Given the description of an element on the screen output the (x, y) to click on. 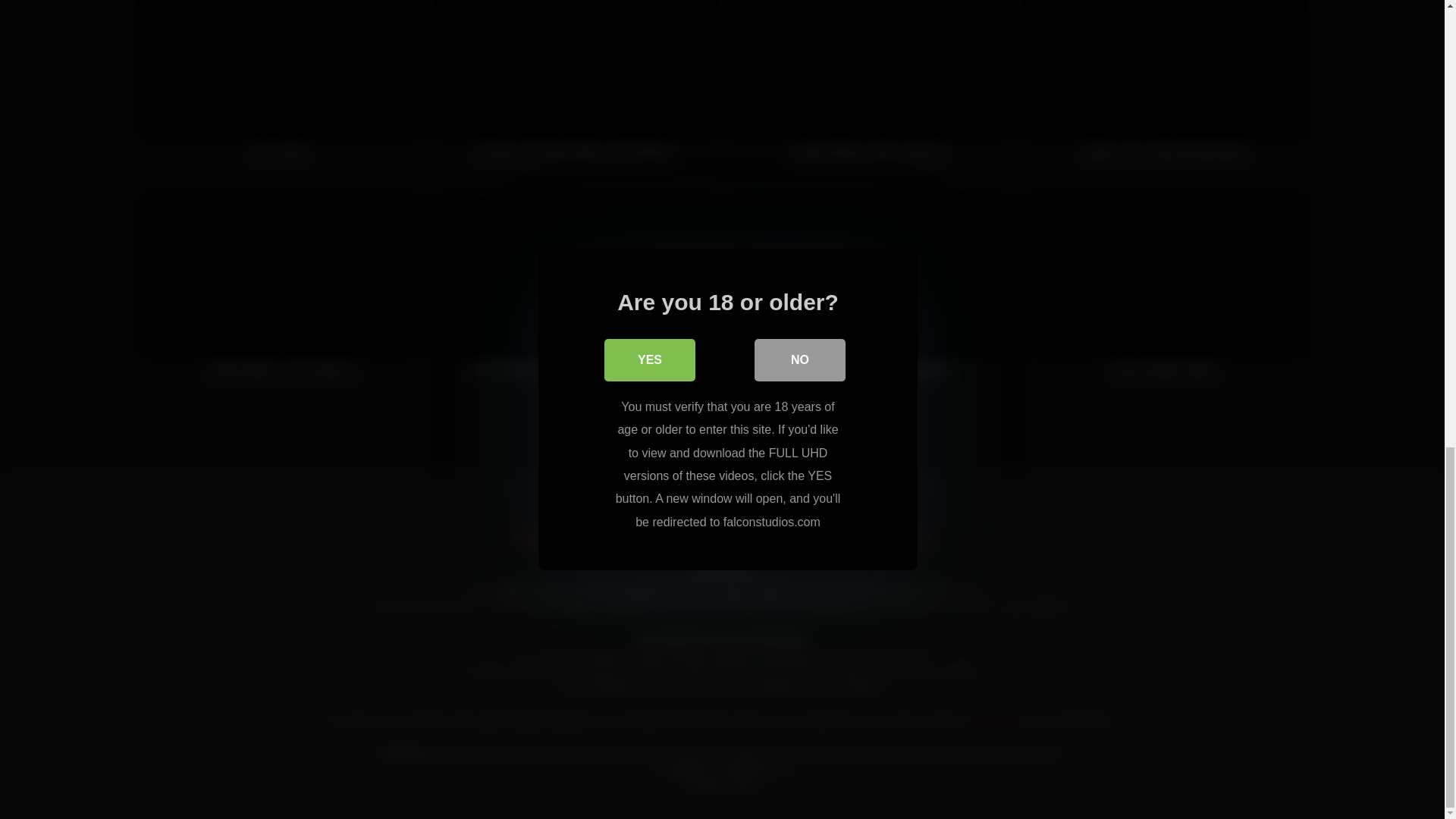
Logan Stevens Fucks Cameron (869, 88)
Spencer Fox Fucks Micah Brandt (1163, 88)
read this page (995, 720)
Spencer Fox Fucks Micah Brandt (1163, 88)
Terms and Conditions (740, 538)
Romano The New Patient Jock Physical (575, 88)
Logan Stevens Fucks Cameron (869, 88)
Donny Wright Probed (1163, 293)
Gay Jocks (281, 88)
Gay Jocks (281, 88)
Donny Wright Probed (1163, 293)
Home (534, 538)
Sitemap (903, 538)
Privacy Policy (615, 538)
2257 (840, 538)
